Given the description of an element on the screen output the (x, y) to click on. 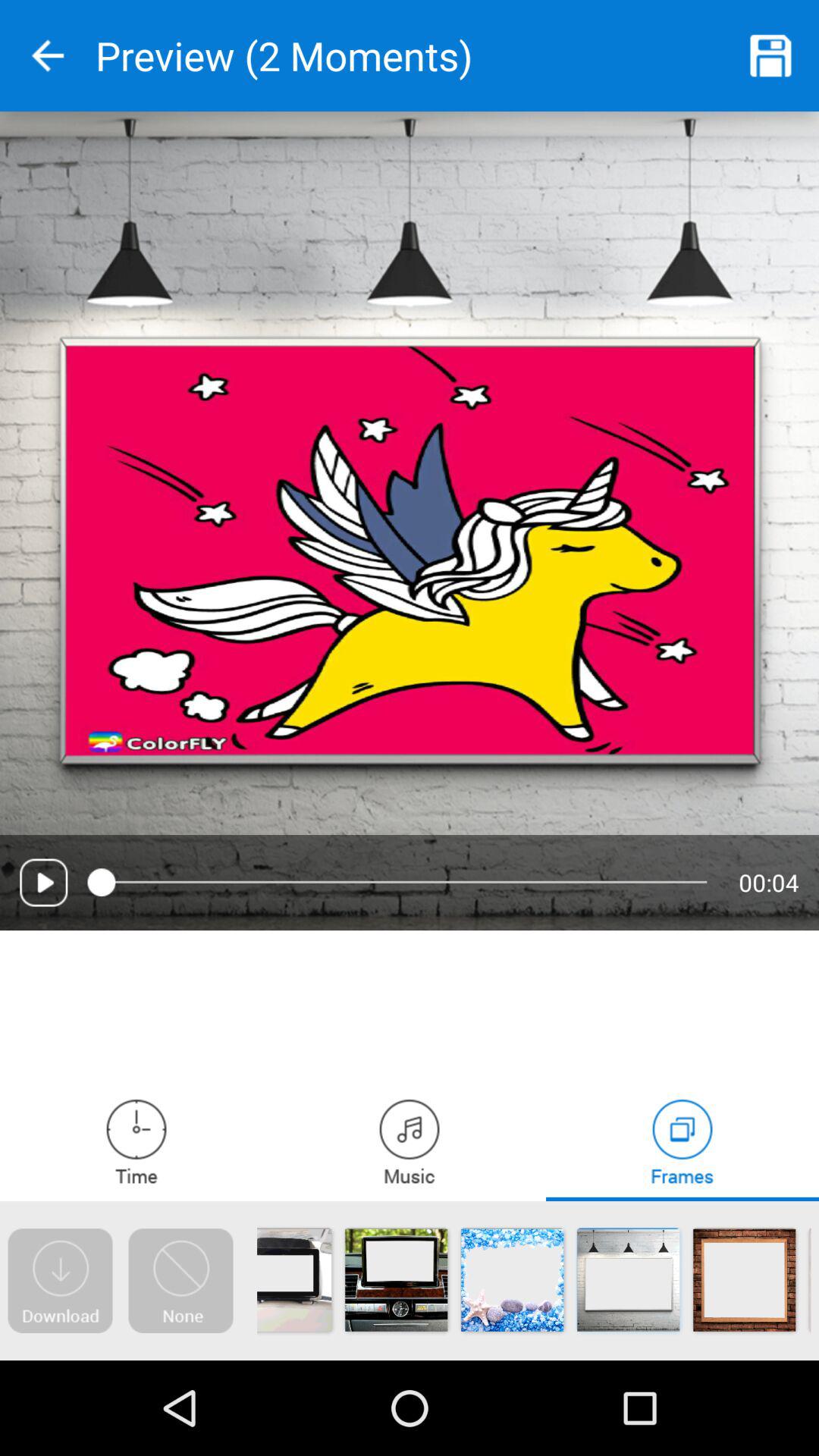
select a frame (682, 1141)
